Given the description of an element on the screen output the (x, y) to click on. 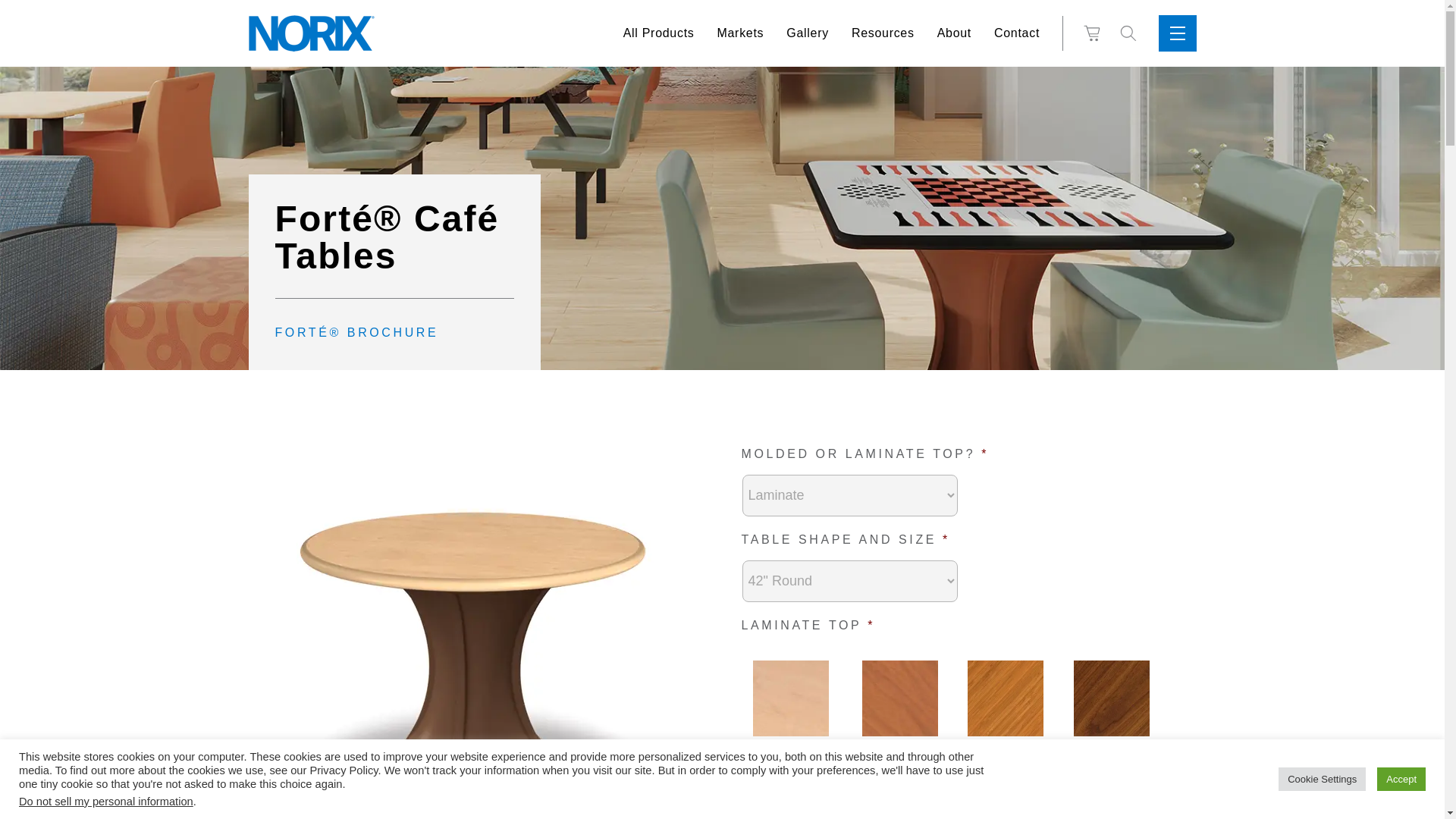
Resources (883, 32)
Sidebar Menu (1177, 33)
Norix (311, 33)
Gallery (807, 32)
All Products (658, 32)
Markets (739, 32)
Toggle Support Box (1129, 33)
About (954, 32)
Contact (1016, 32)
